Given the description of an element on the screen output the (x, y) to click on. 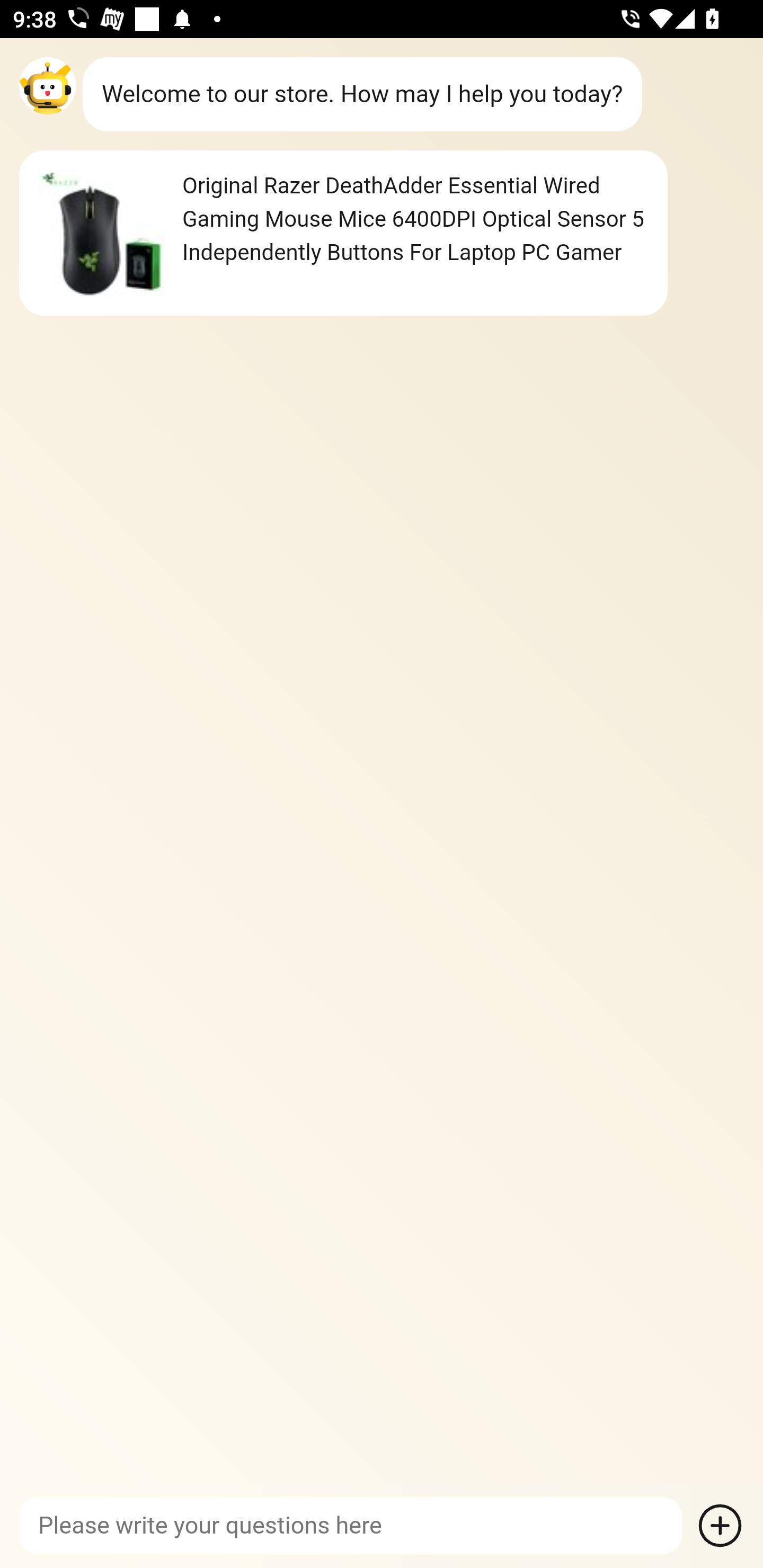
Welcome to our store. How may I help you today? (362, 93)
展开工具栏 (719, 1525)
